Given the description of an element on the screen output the (x, y) to click on. 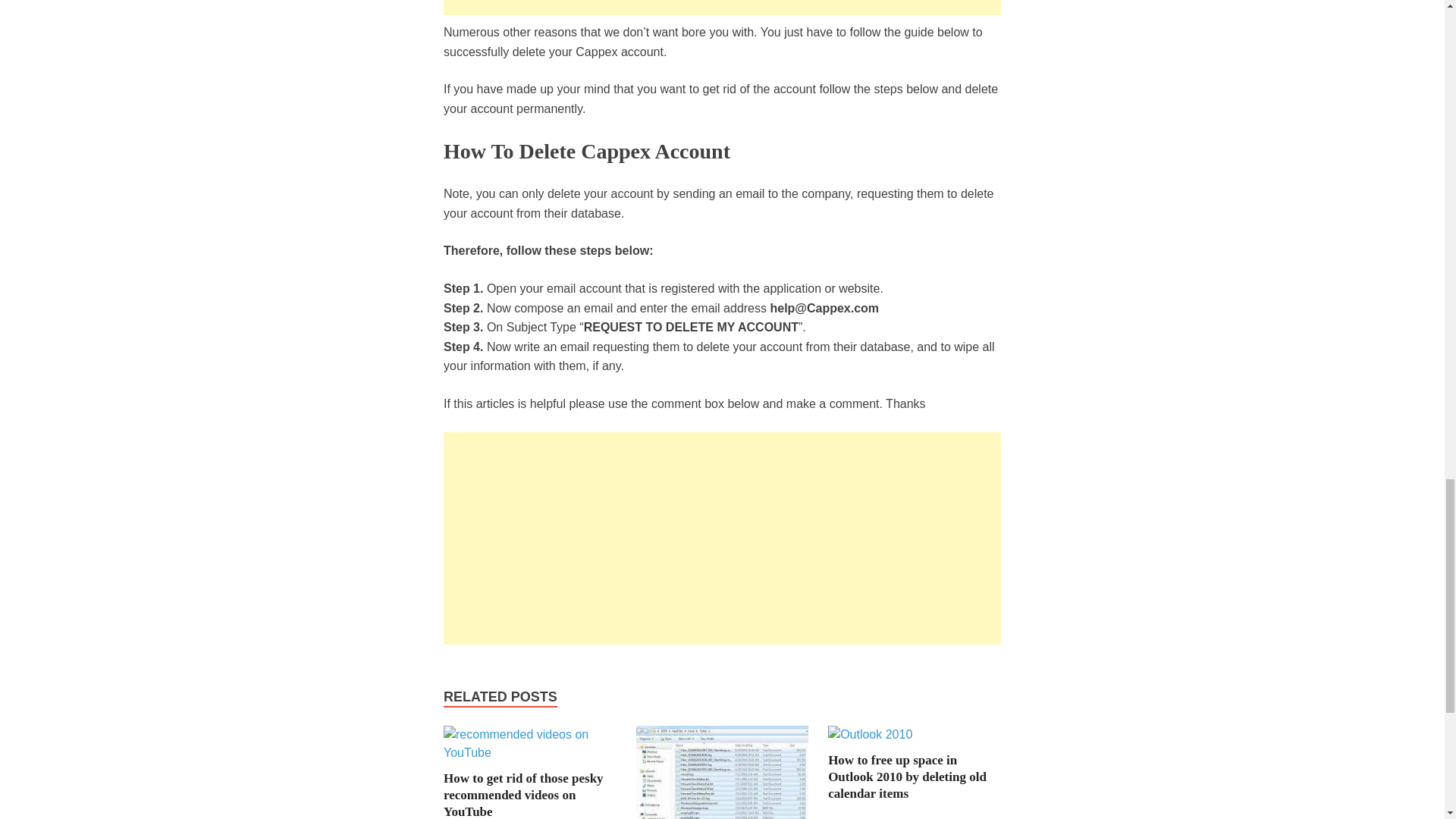
How to get rid of those pesky recommended videos on YouTube (529, 752)
How to get rid of those pesky recommended videos on YouTube (524, 795)
How to get rid of those pesky recommended videos on YouTube (524, 795)
